Given the description of an element on the screen output the (x, y) to click on. 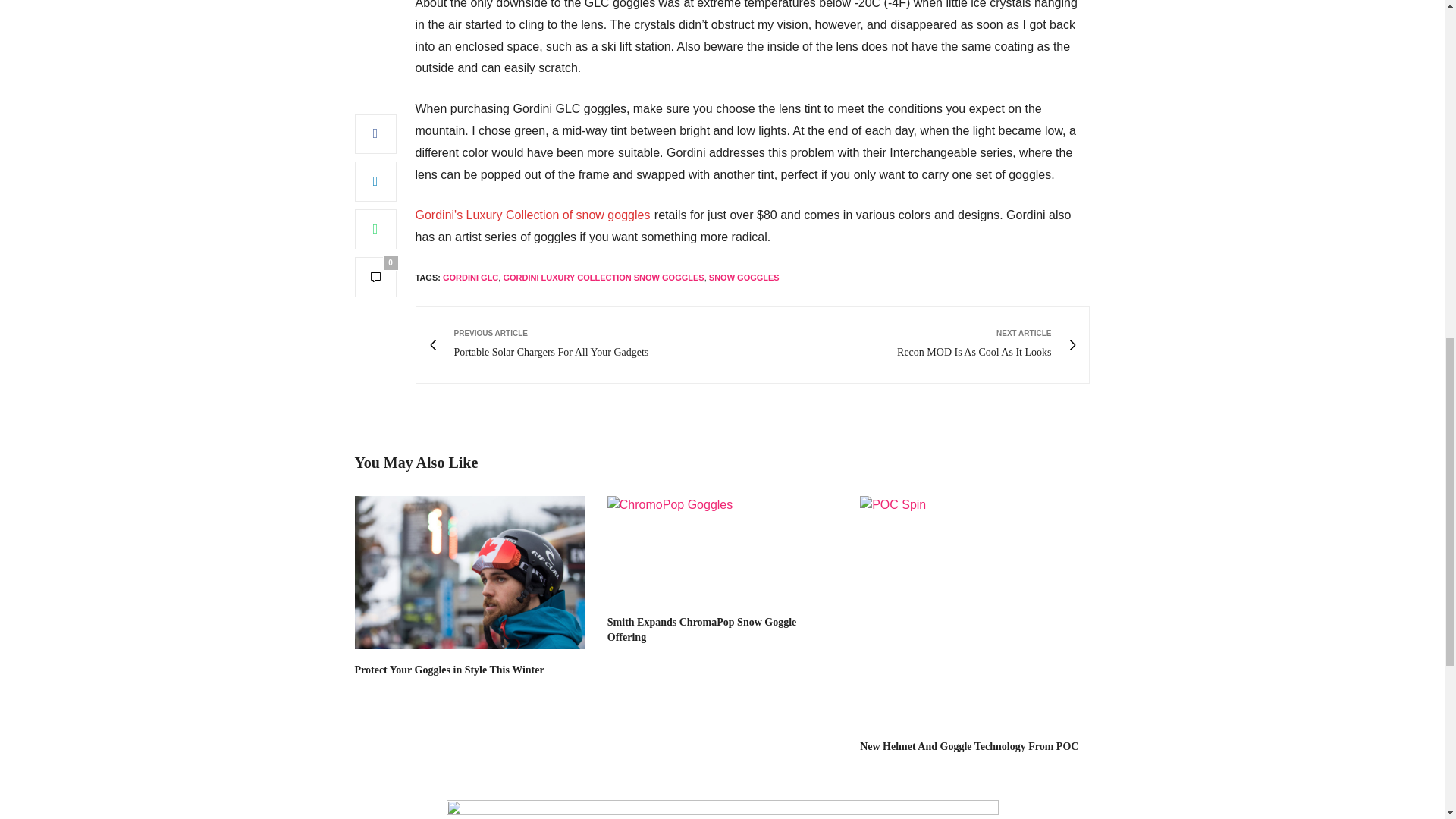
New Helmet And Goggle Technology From POC (974, 610)
Smith Expands ChromaPop Snow Goggle Offering (722, 548)
Protect Your Goggles in Style This Winter (470, 572)
Smith Expands ChromaPop Snow Goggle Offering (701, 629)
New Helmet And Goggle Technology From POC (969, 746)
Protect Your Goggles in Style This Winter (449, 669)
